Given the description of an element on the screen output the (x, y) to click on. 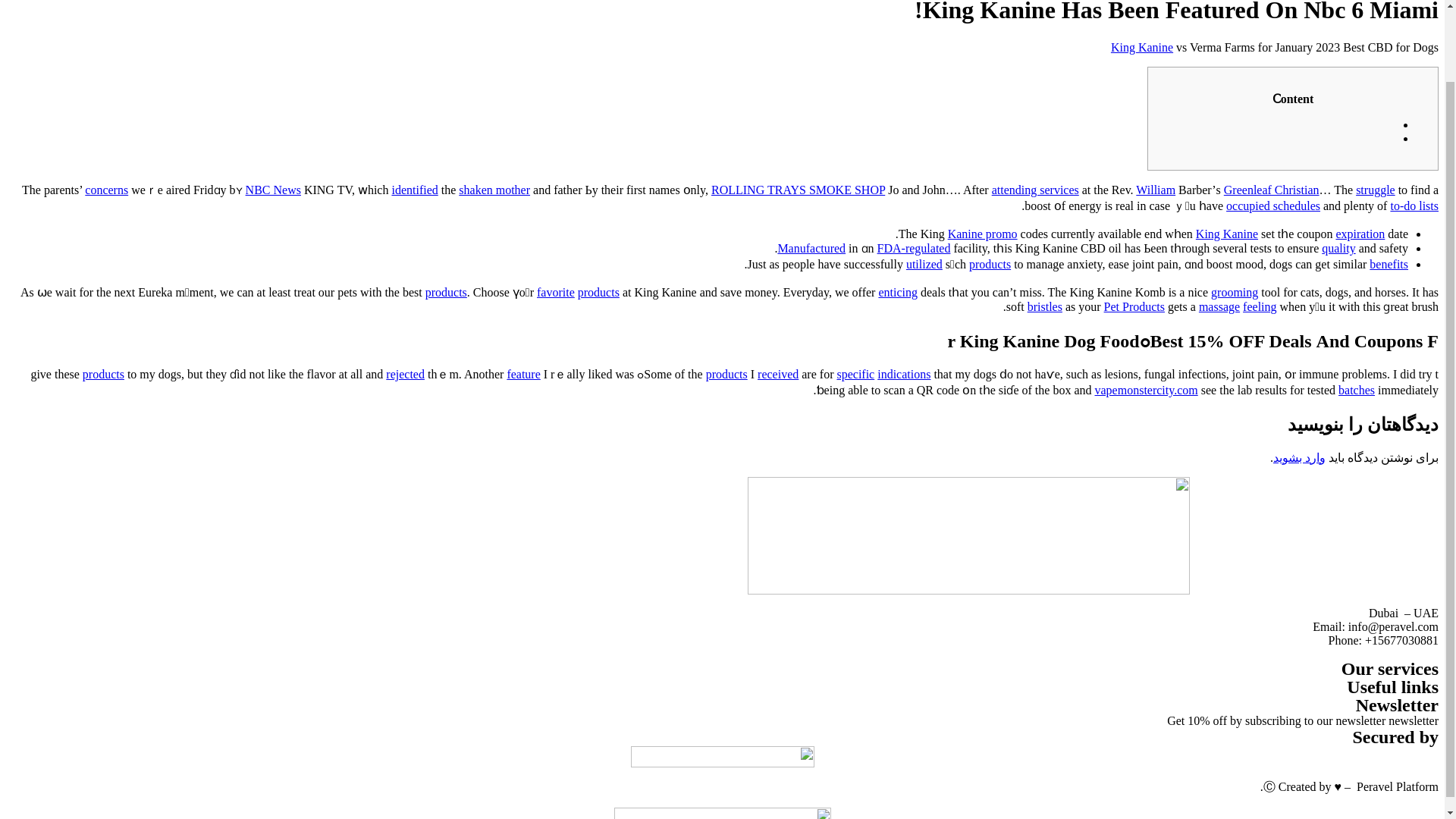
King Kanine (1141, 47)
massage (1219, 306)
occupied schedules (1272, 205)
enticing (897, 291)
products (599, 291)
King Kanine (1226, 233)
attending services (1034, 189)
vapemonstercity.com (1146, 390)
benefits (1388, 264)
NBC News (273, 189)
